Given the description of an element on the screen output the (x, y) to click on. 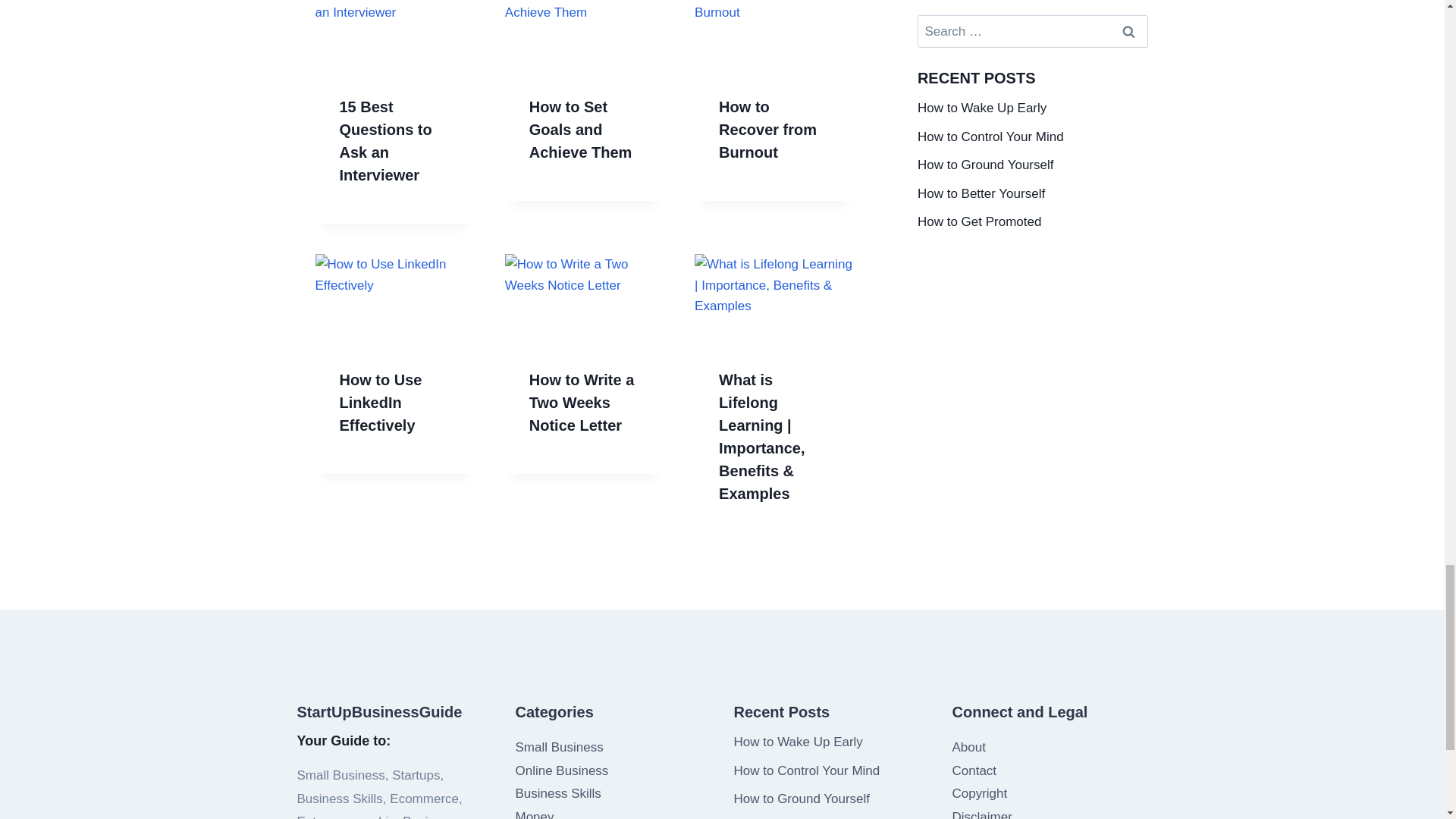
How to Set Goals and Achieve Them (580, 129)
15 Best Questions to Ask an Interviewer (385, 140)
